Given the description of an element on the screen output the (x, y) to click on. 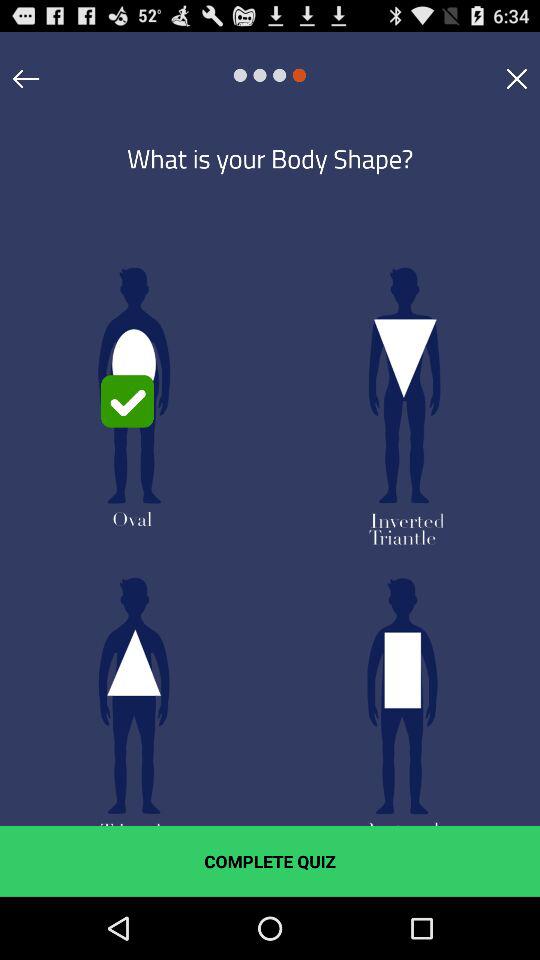
turn off item at the top left corner (26, 78)
